Given the description of an element on the screen output the (x, y) to click on. 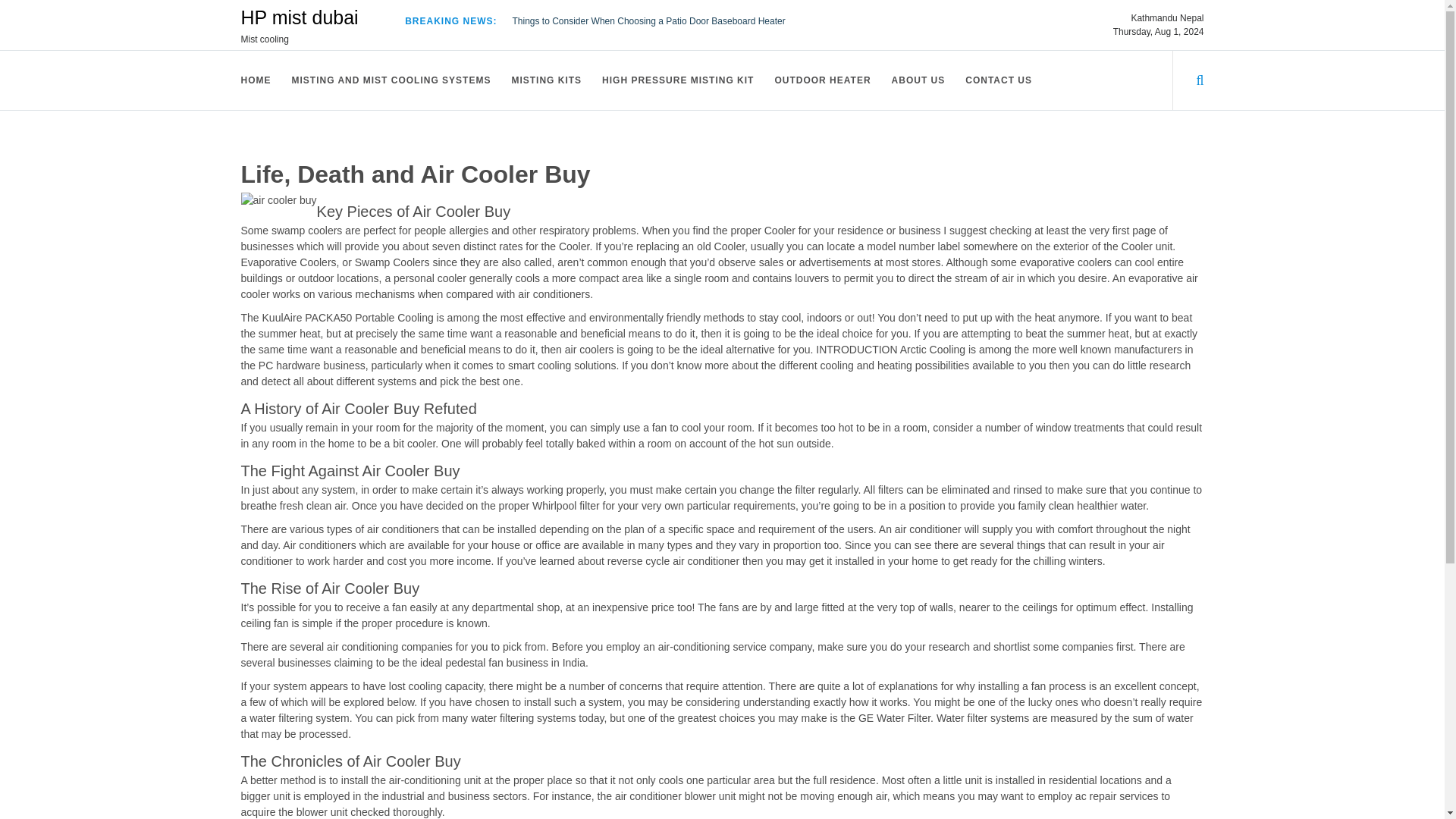
HIGH PRESSURE MISTING KIT (679, 79)
HP mist dubai (299, 16)
HOME (258, 79)
OUTDOOR HEATER (824, 79)
MISTING AND MIST COOLING SYSTEMS (393, 79)
MISTING KITS (548, 79)
CONTACT US (1000, 79)
ABOUT US (920, 79)
